Given the description of an element on the screen output the (x, y) to click on. 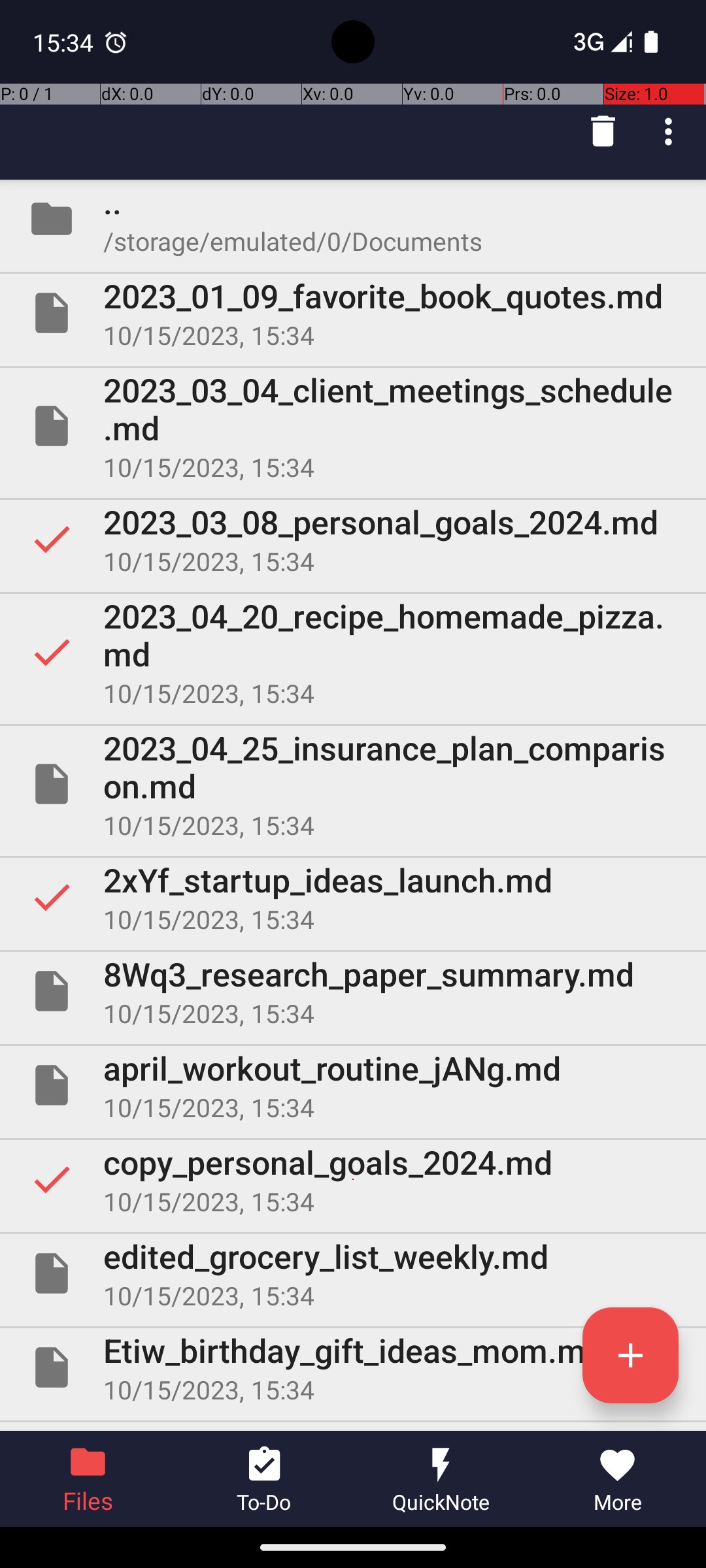
File 2023_01_09_favorite_book_quotes.md  Element type: android.widget.LinearLayout (353, 312)
File 2023_03_04_client_meetings_schedule.md  Element type: android.widget.LinearLayout (353, 425)
Selected 2023_03_08_personal_goals_2024.md  Element type: android.widget.LinearLayout (353, 538)
Selected 2023_04_20_recipe_homemade_pizza.md 10/15/2023, 15:34 Element type: android.widget.LinearLayout (353, 651)
File 2023_04_25_insurance_plan_comparison.md  Element type: android.widget.LinearLayout (353, 783)
Selected 2xYf_startup_ideas_launch.md 10/15/2023, 15:34 Element type: android.widget.LinearLayout (353, 896)
File 8Wq3_research_paper_summary.md  Element type: android.widget.LinearLayout (353, 990)
File april_workout_routine_jANg.md  Element type: android.widget.LinearLayout (353, 1084)
Selected copy_personal_goals_2024.md 10/15/2023, 15:34 Element type: android.widget.LinearLayout (353, 1179)
File edited_grocery_list_weekly.md  Element type: android.widget.LinearLayout (353, 1273)
File Etiw_birthday_gift_ideas_mom.md  Element type: android.widget.LinearLayout (353, 1367)
File J7k3_research_paper_summary.md  Element type: android.widget.LinearLayout (353, 1426)
